Given the description of an element on the screen output the (x, y) to click on. 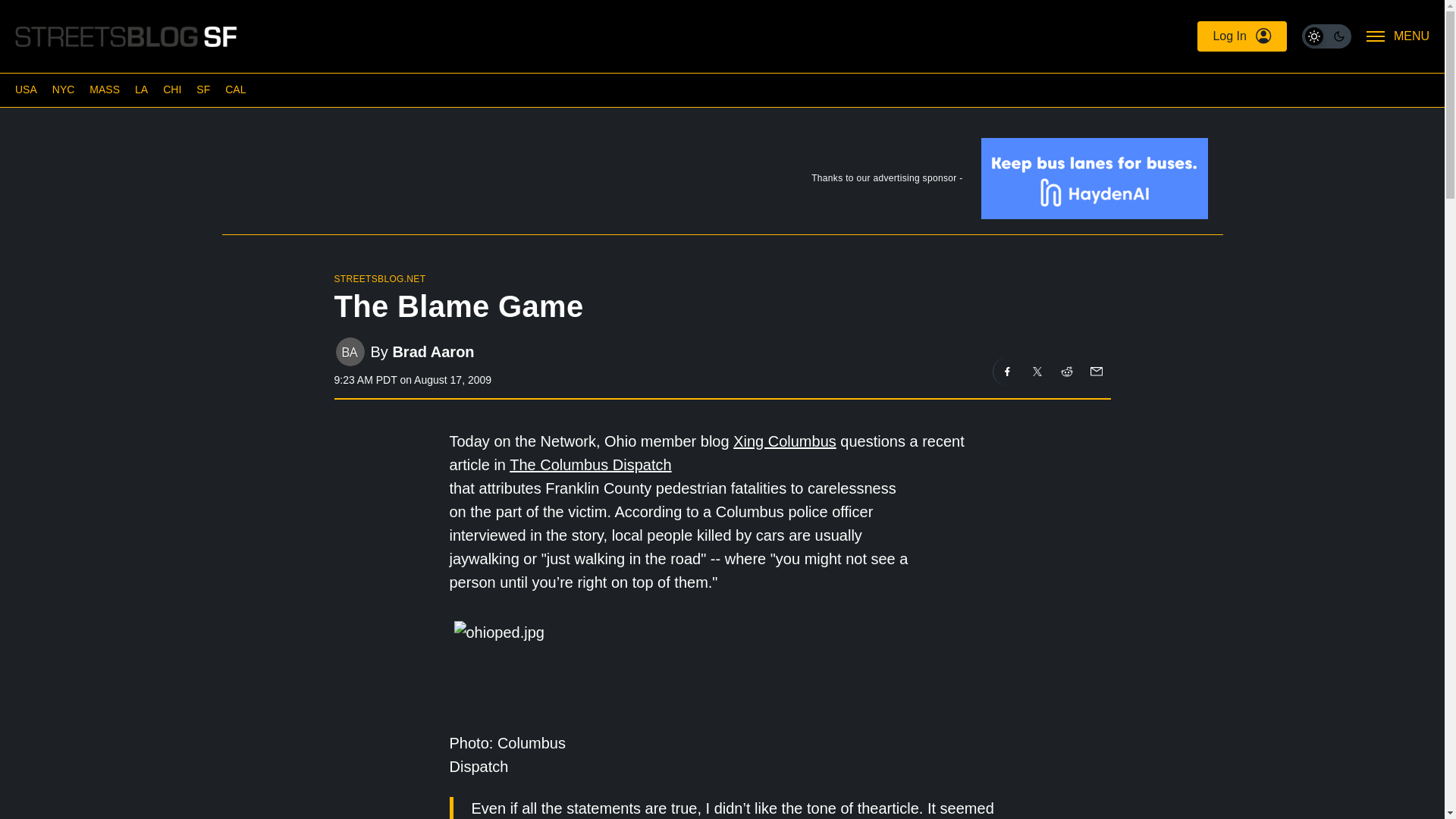
Thanks to our advertising sponsor - (721, 181)
MASS (103, 89)
USA (25, 89)
Share on Email (1095, 371)
Share on Reddit (1066, 371)
MENU (1398, 36)
Log In (1240, 36)
Share on Facebook (1007, 371)
CAL (235, 89)
Xing Columbus (784, 441)
CHI (171, 89)
NYC (63, 89)
STREETSBLOG.NET (379, 278)
LA (141, 89)
The Columbus Dispatch (590, 464)
